Given the description of an element on the screen output the (x, y) to click on. 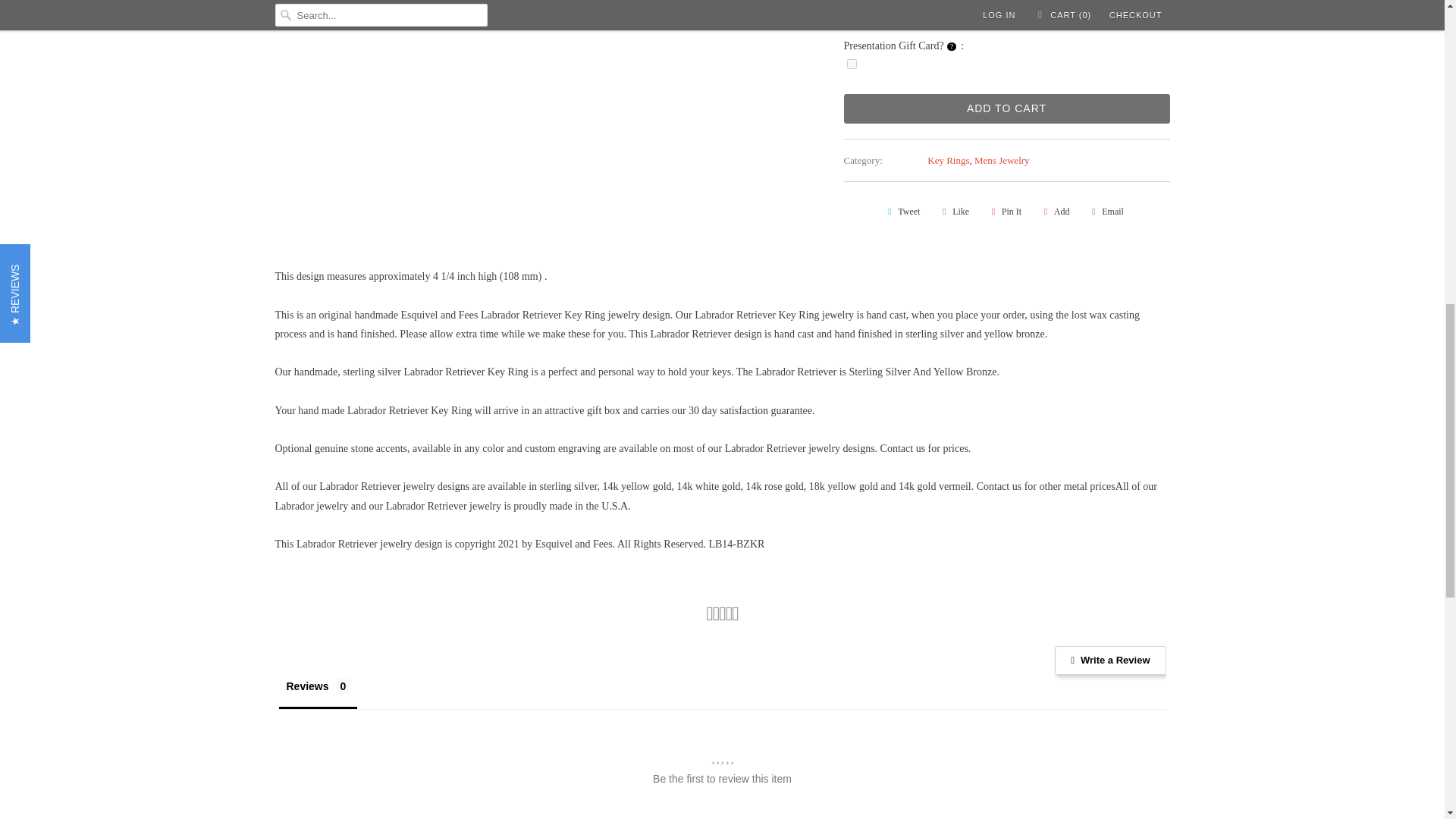
Email this to a friend (1105, 211)
Share this on Twitter (901, 211)
Share this on Pinterest (1004, 211)
Share this on Facebook (953, 211)
Products tagged Key Rings (948, 160)
Products tagged Mens Jewelry (1001, 160)
